Given the description of an element on the screen output the (x, y) to click on. 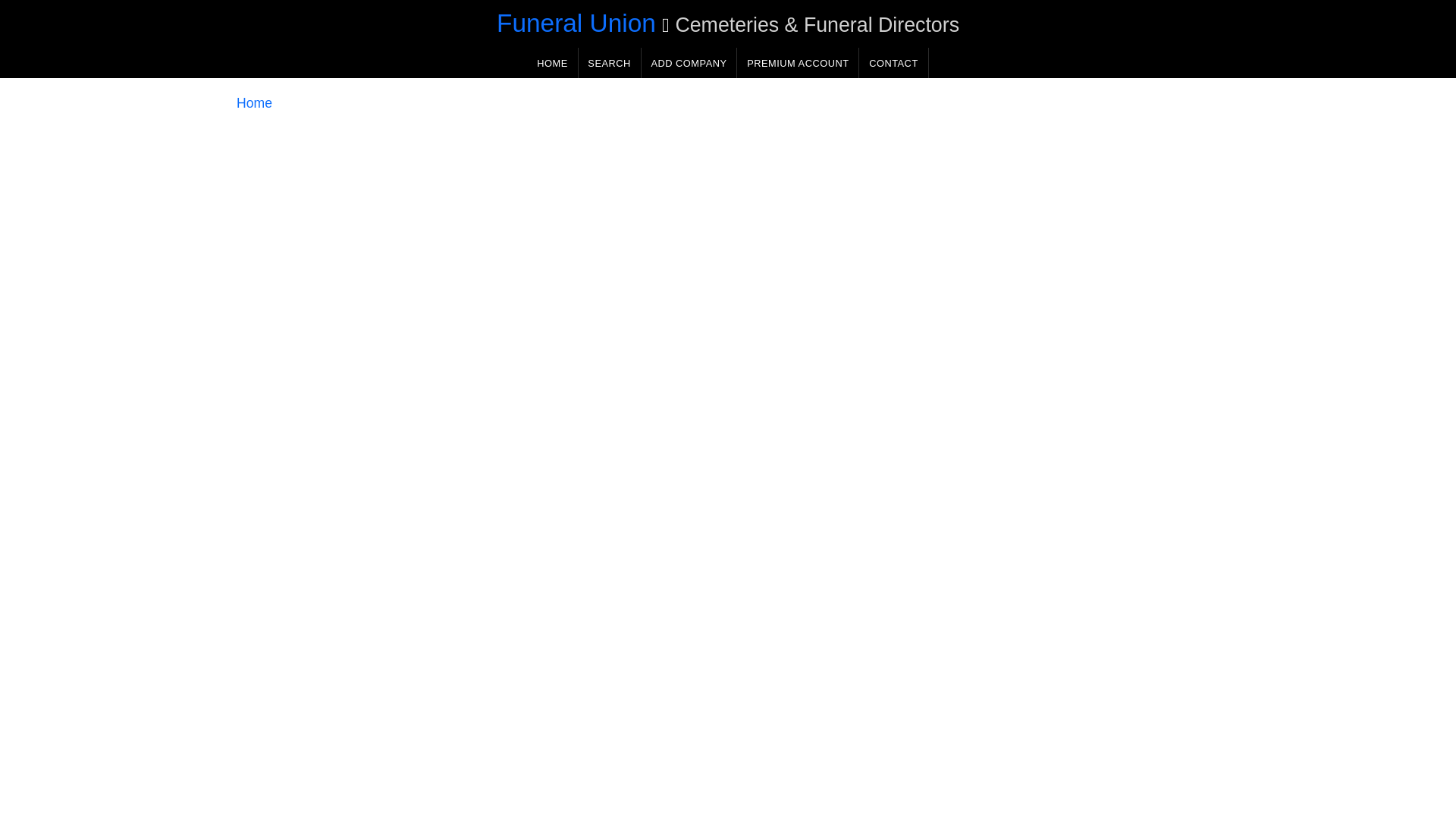
HOME (551, 62)
PREMIUM ACCOUNT (797, 62)
Funeral Union (576, 22)
Add a new company (689, 62)
Search in this webseite. (609, 62)
SEARCH (609, 62)
Home (253, 102)
CONTACT (893, 62)
Premium account (797, 62)
